Given the description of an element on the screen output the (x, y) to click on. 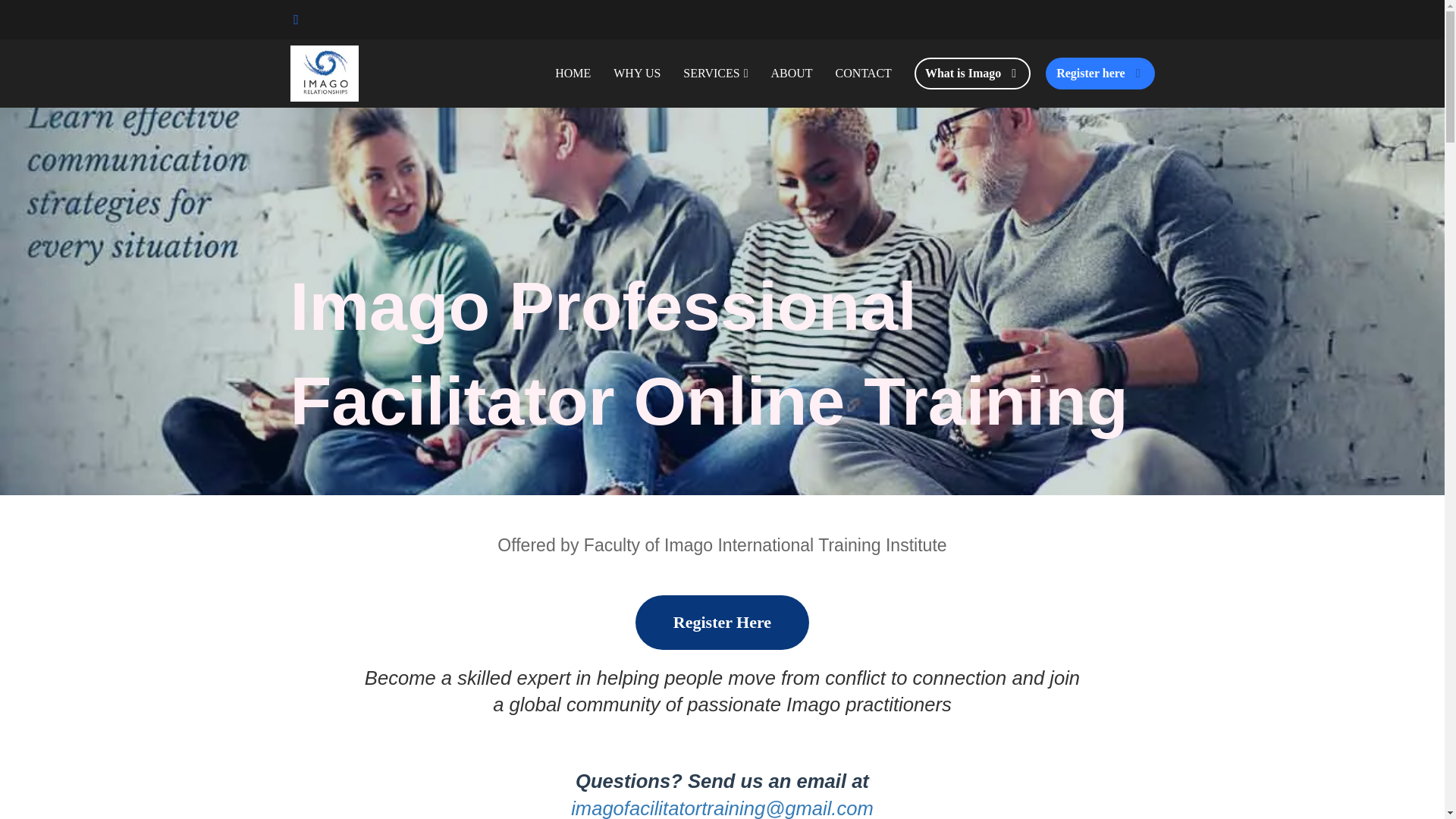
SERVICES (714, 73)
ABOUT (791, 73)
CONTACT (863, 73)
WHY US (636, 73)
What is Imago (972, 73)
Register here (1099, 73)
Register Here (721, 622)
HOME (572, 73)
